Given the description of an element on the screen output the (x, y) to click on. 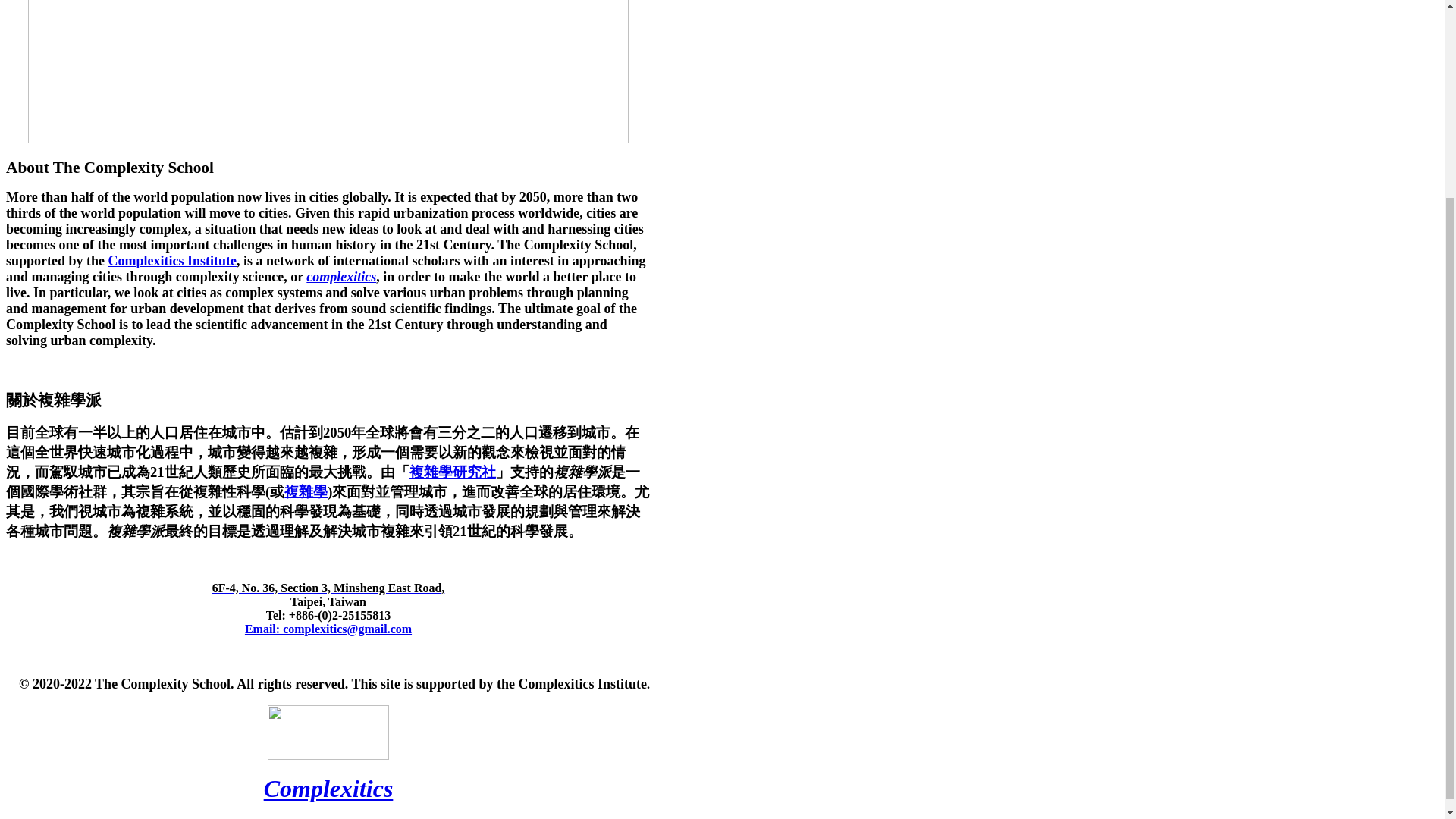
Complexitics Institute (172, 260)
6F-4, No. 36, Section 3, Minsheng East Road, (328, 587)
Complexitics (328, 788)
complexitics (340, 276)
